Given the description of an element on the screen output the (x, y) to click on. 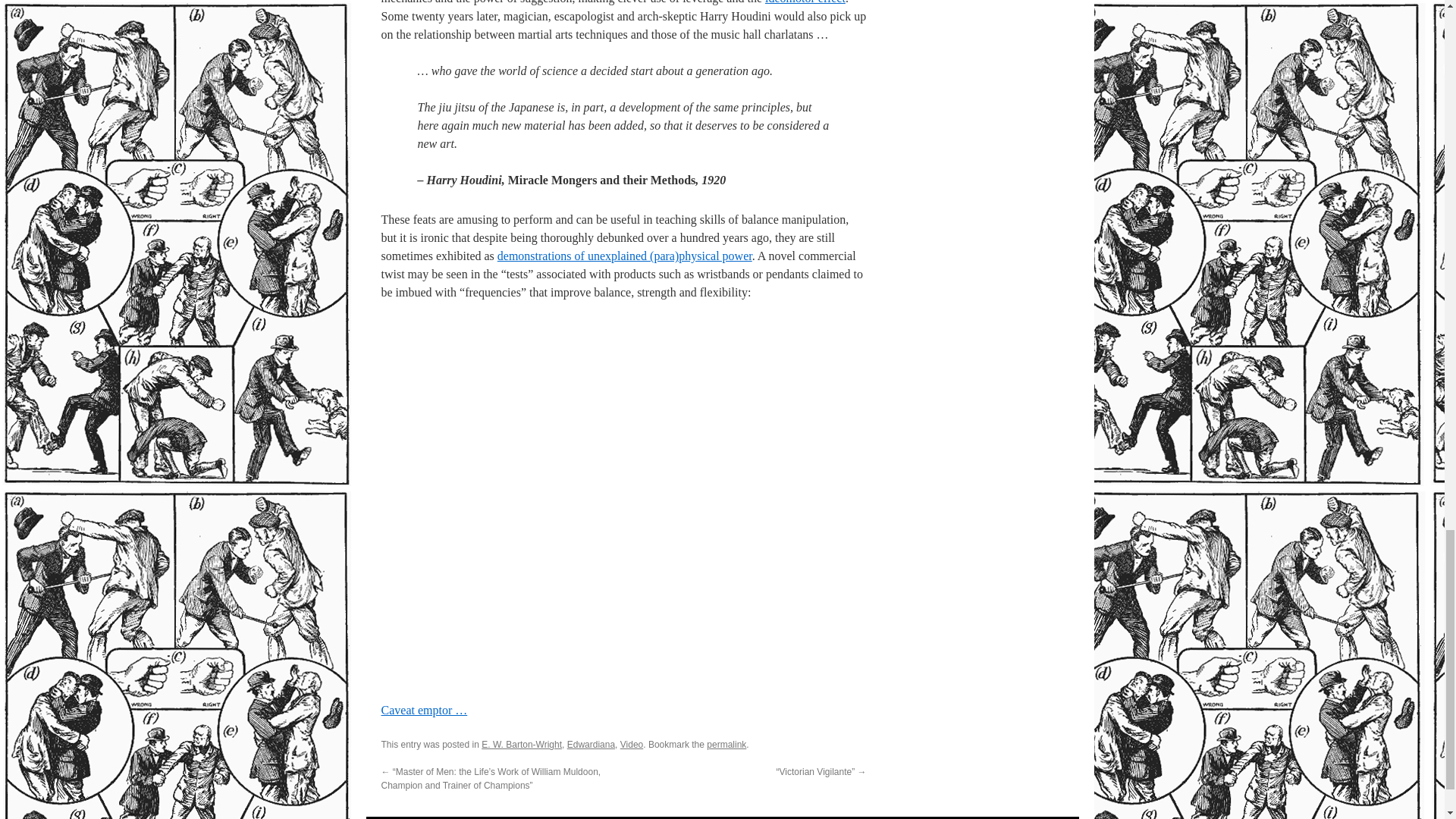
ideomotor effect (805, 2)
permalink (725, 744)
Video (631, 744)
Edwardiana (590, 744)
E. W. Barton-Wright (521, 744)
